Given the description of an element on the screen output the (x, y) to click on. 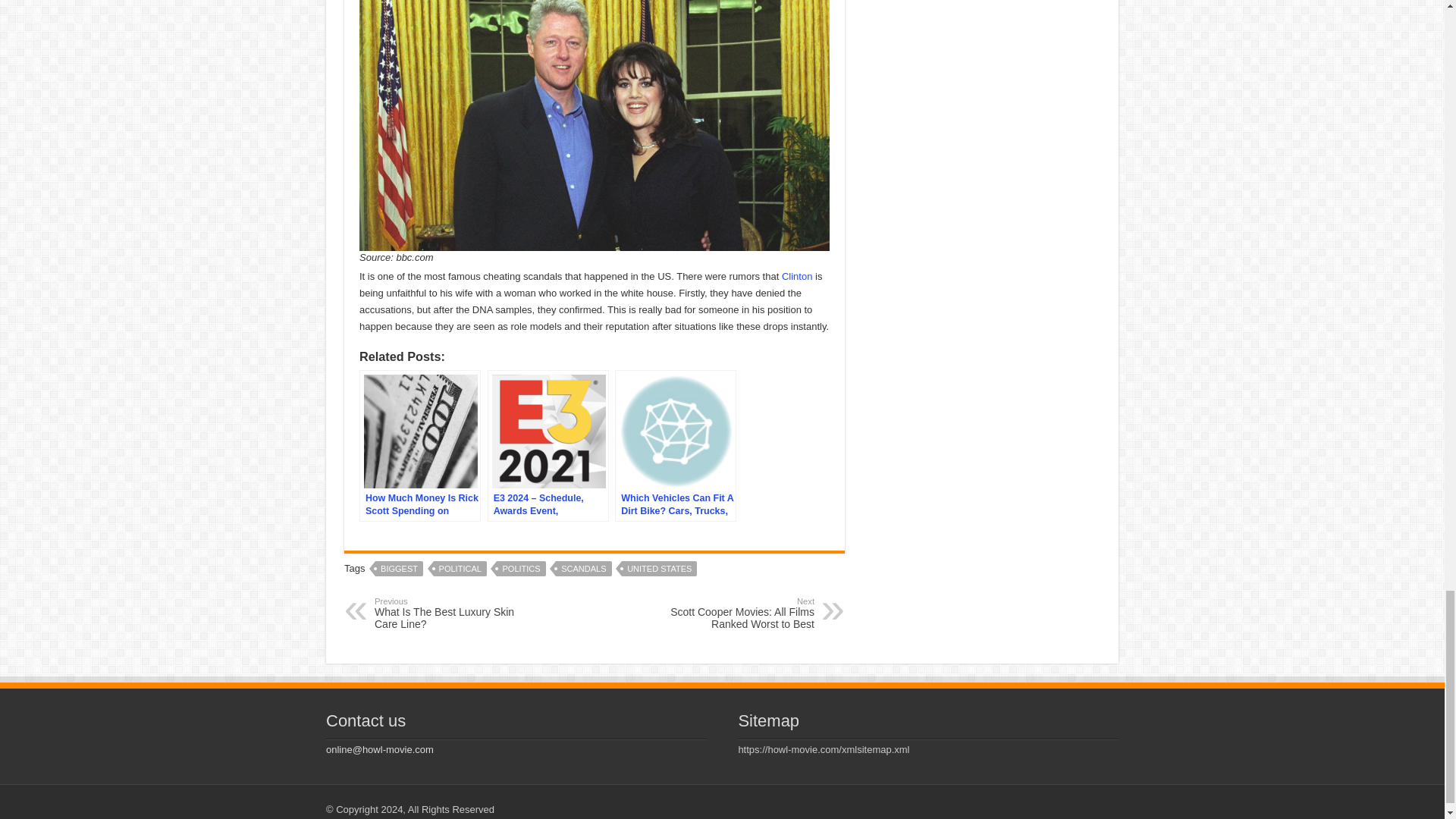
Clinton (796, 276)
BIGGEST (399, 568)
POLITICS (451, 613)
UNITED STATES (520, 568)
SCANDALS (659, 568)
POLITICAL (583, 568)
